Given the description of an element on the screen output the (x, y) to click on. 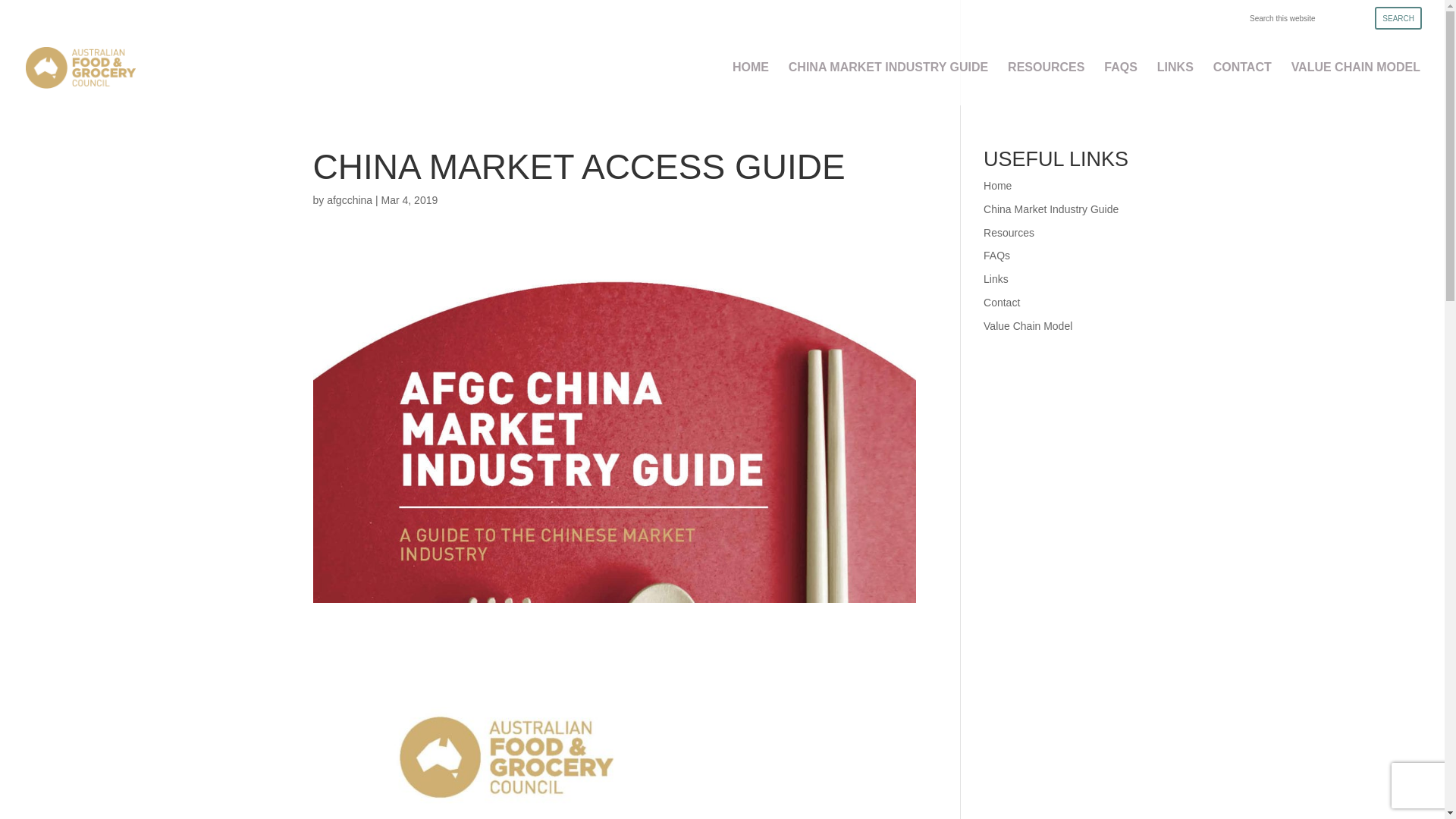
VALUE CHAIN MODEL Element type: text (1355, 83)
RESOURCES Element type: text (1045, 83)
Home Element type: text (997, 185)
LINKS Element type: text (1175, 83)
Value Chain Model Element type: text (1027, 326)
CHINA MARKET INDUSTRY GUIDE Element type: text (888, 83)
Contact Element type: text (1001, 302)
Links Element type: text (995, 279)
Resources Element type: text (1008, 232)
CONTACT Element type: text (1242, 83)
FAQS Element type: text (1120, 83)
China Market Industry Guide Element type: text (1050, 209)
HOME Element type: text (750, 83)
FAQs Element type: text (996, 255)
afgcchina Element type: text (349, 200)
Search Element type: text (1397, 17)
